Given the description of an element on the screen output the (x, y) to click on. 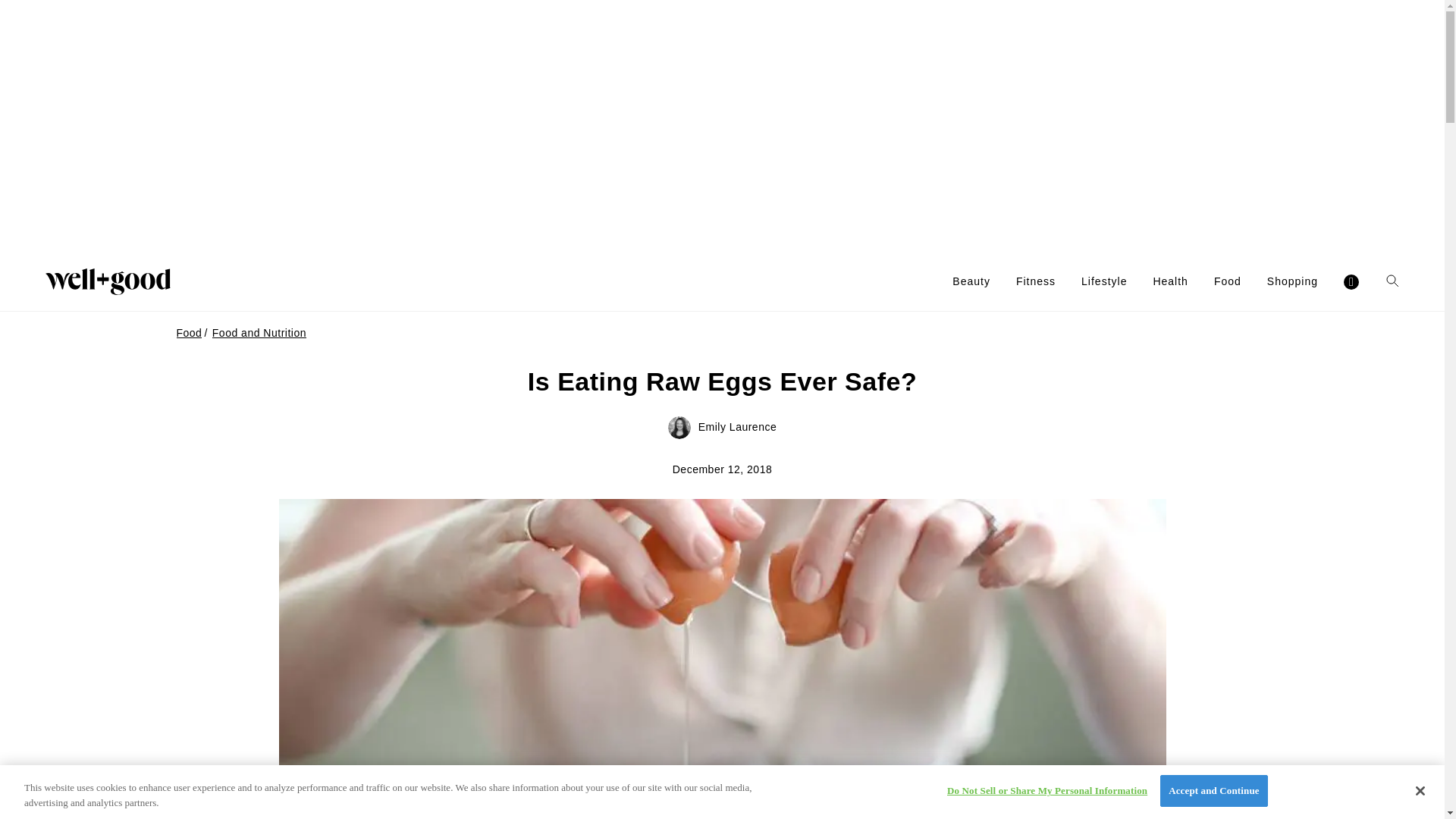
Shopping (1291, 281)
Lifestyle (1103, 281)
Fitness (1035, 281)
Beauty (971, 281)
Health (1170, 281)
Food (1227, 281)
